Given the description of an element on the screen output the (x, y) to click on. 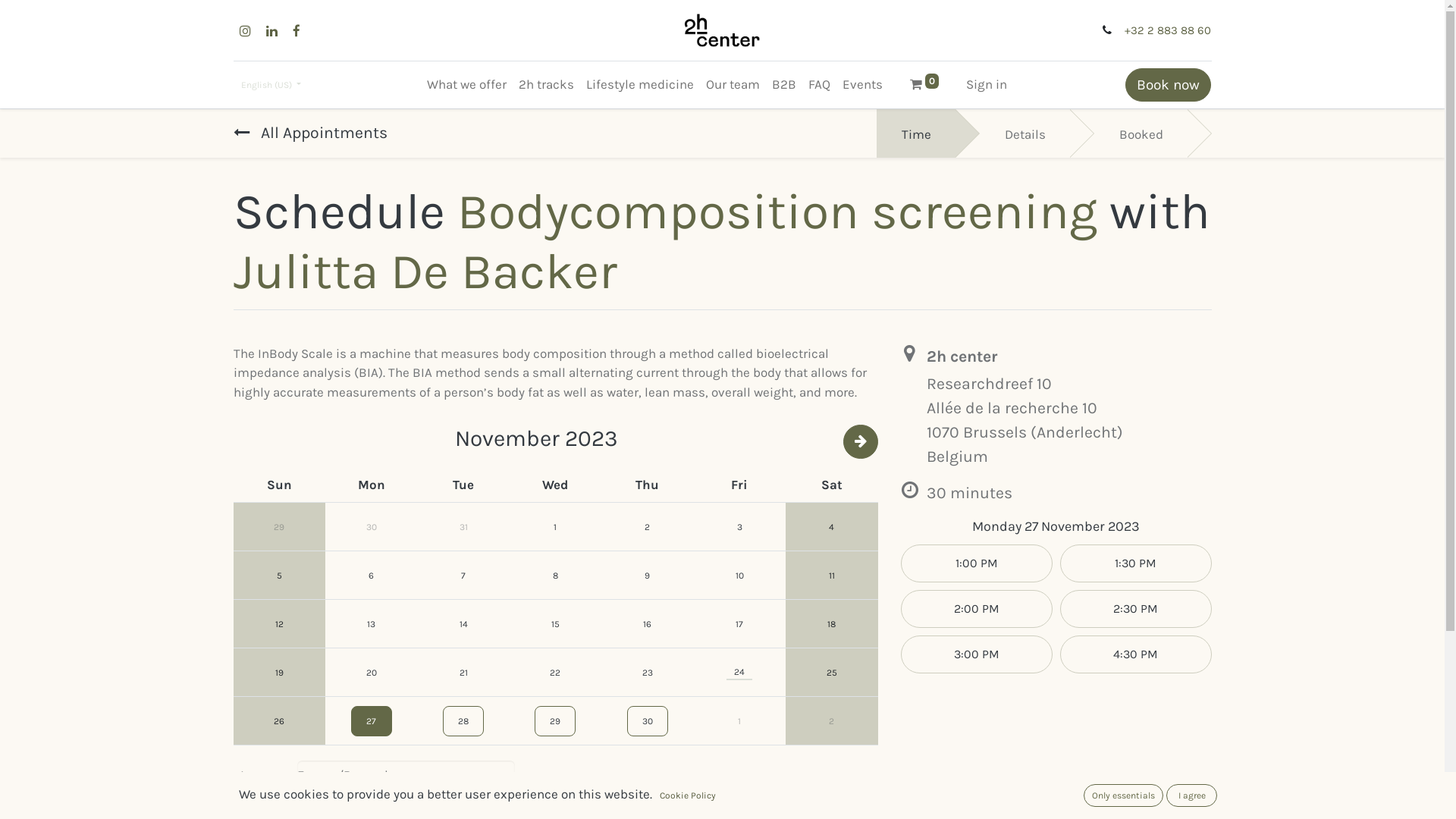
I agree Element type: text (1191, 795)
4:30 PM Element type: text (1135, 654)
Time Element type: text (915, 133)
Cookie Policy Element type: text (687, 795)
What we offer Element type: text (466, 84)
Events Element type: text (862, 84)
0 Element type: text (923, 84)
1:00 PM Element type: text (976, 563)
Our team Element type: text (732, 84)
Sign in Element type: text (986, 84)
English (US) Element type: text (270, 84)
+32 2 883 88 60 Element type: text (1167, 30)
B2B Element type: text (783, 84)
2h tracks Element type: text (546, 84)
Book now Element type: text (1168, 85)
Only essentials Element type: text (1123, 795)
All Appointments Element type: text (310, 132)
FAQ Element type: text (819, 84)
Lifestyle medicine Element type: text (639, 84)
2:00 PM Element type: text (976, 608)
1:30 PM Element type: text (1135, 563)
2h center Element type: hover (722, 30)
3:00 PM Element type: text (976, 654)
2:30 PM Element type: text (1135, 608)
